Given the description of an element on the screen output the (x, y) to click on. 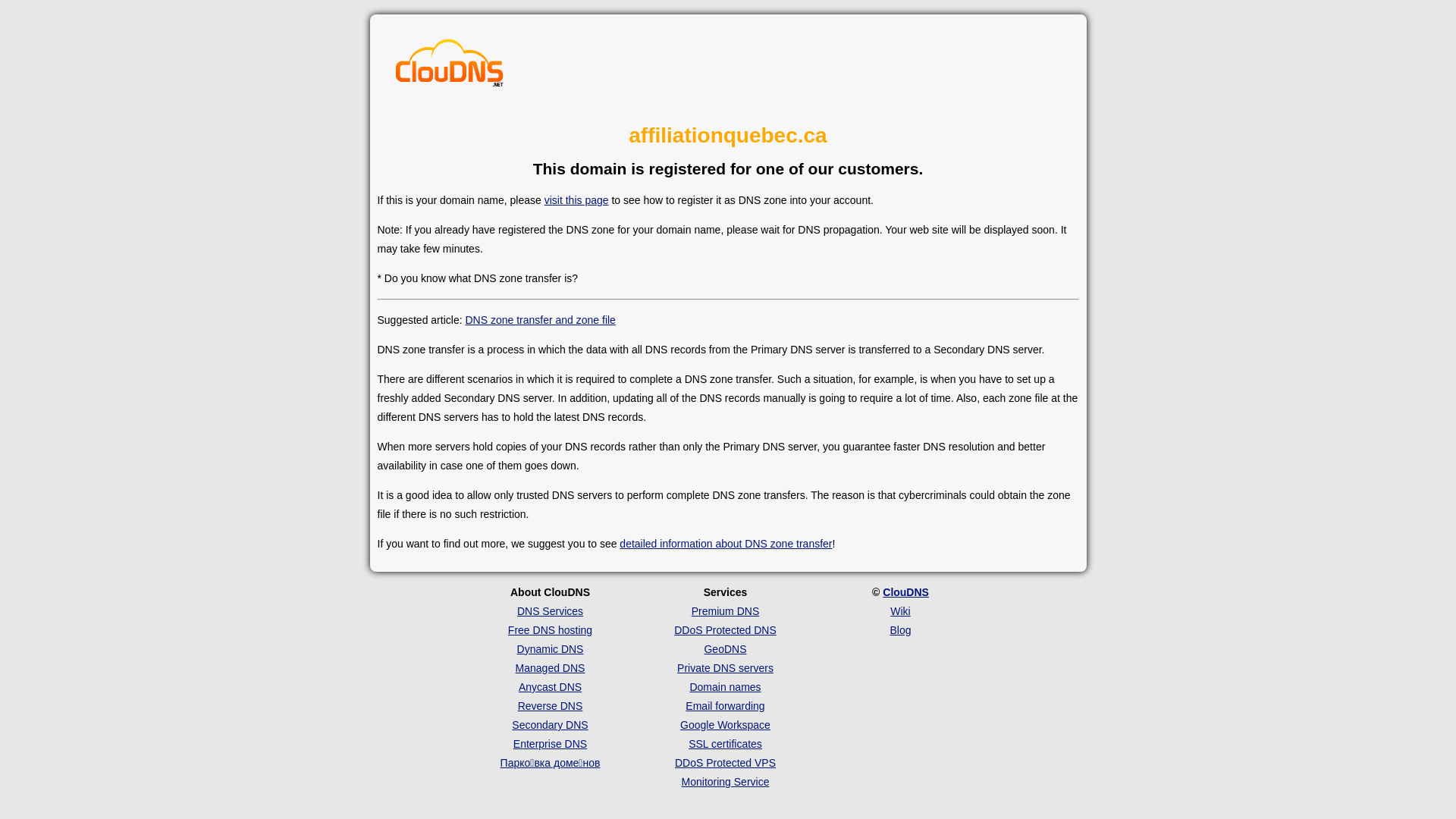
DDoS Protected VPS Element type: text (724, 762)
Managed DNS Element type: text (550, 668)
Free DNS hosting Element type: text (550, 630)
Reverse DNS Element type: text (550, 705)
DDoS Protected DNS Element type: text (725, 630)
GeoDNS Element type: text (724, 649)
Monitoring Service Element type: text (725, 781)
Private DNS servers Element type: text (725, 668)
Dynamic DNS Element type: text (550, 649)
Anycast DNS Element type: text (549, 686)
Email forwarding Element type: text (724, 705)
Wiki Element type: text (900, 611)
DNS Services Element type: text (550, 611)
Cloud DNS Element type: hover (449, 66)
DNS zone transfer and zone file Element type: text (539, 319)
Domain names Element type: text (724, 686)
Secondary DNS Element type: text (549, 724)
visit this page Element type: text (576, 200)
Google Workspace Element type: text (725, 724)
ClouDNS Element type: text (905, 592)
Premium DNS Element type: text (725, 611)
detailed information about DNS zone transfer Element type: text (725, 543)
Enterprise DNS Element type: text (549, 743)
Blog Element type: text (899, 630)
SSL certificates Element type: text (725, 743)
